Given the description of an element on the screen output the (x, y) to click on. 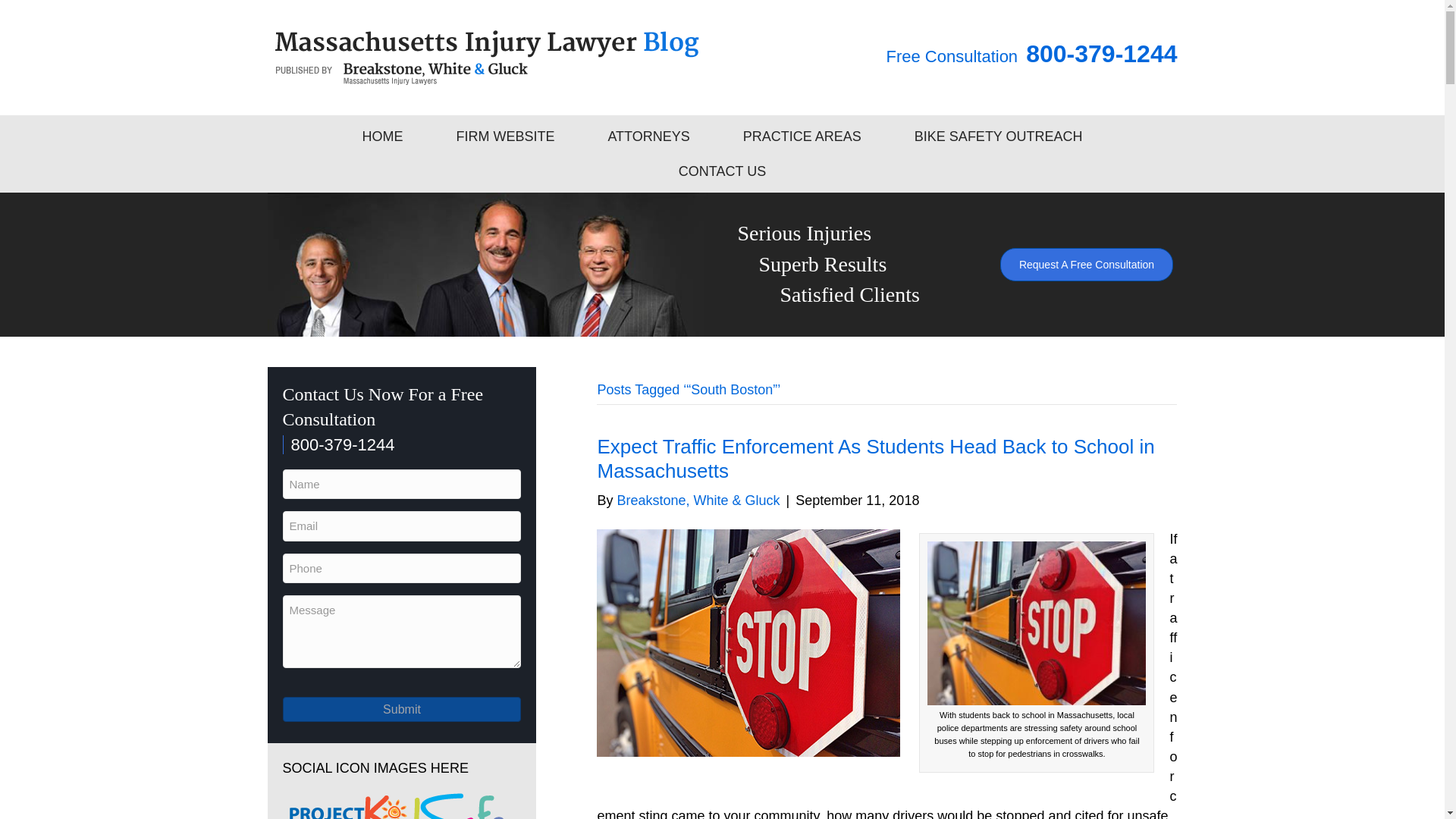
Request A Free Consultation (1086, 264)
HOME (381, 135)
ATTORNEYS (648, 135)
800-379-1244 (338, 444)
BIKE SAFETY OUTREACH (998, 135)
Submit (401, 708)
CONTACT US (722, 171)
PRACTICE AREAS (802, 135)
FIRM WEBSITE (504, 135)
Mass Injury Blog Attorneys (486, 264)
Submit (401, 708)
Mass Injury Lawyer Blog (486, 57)
